Given the description of an element on the screen output the (x, y) to click on. 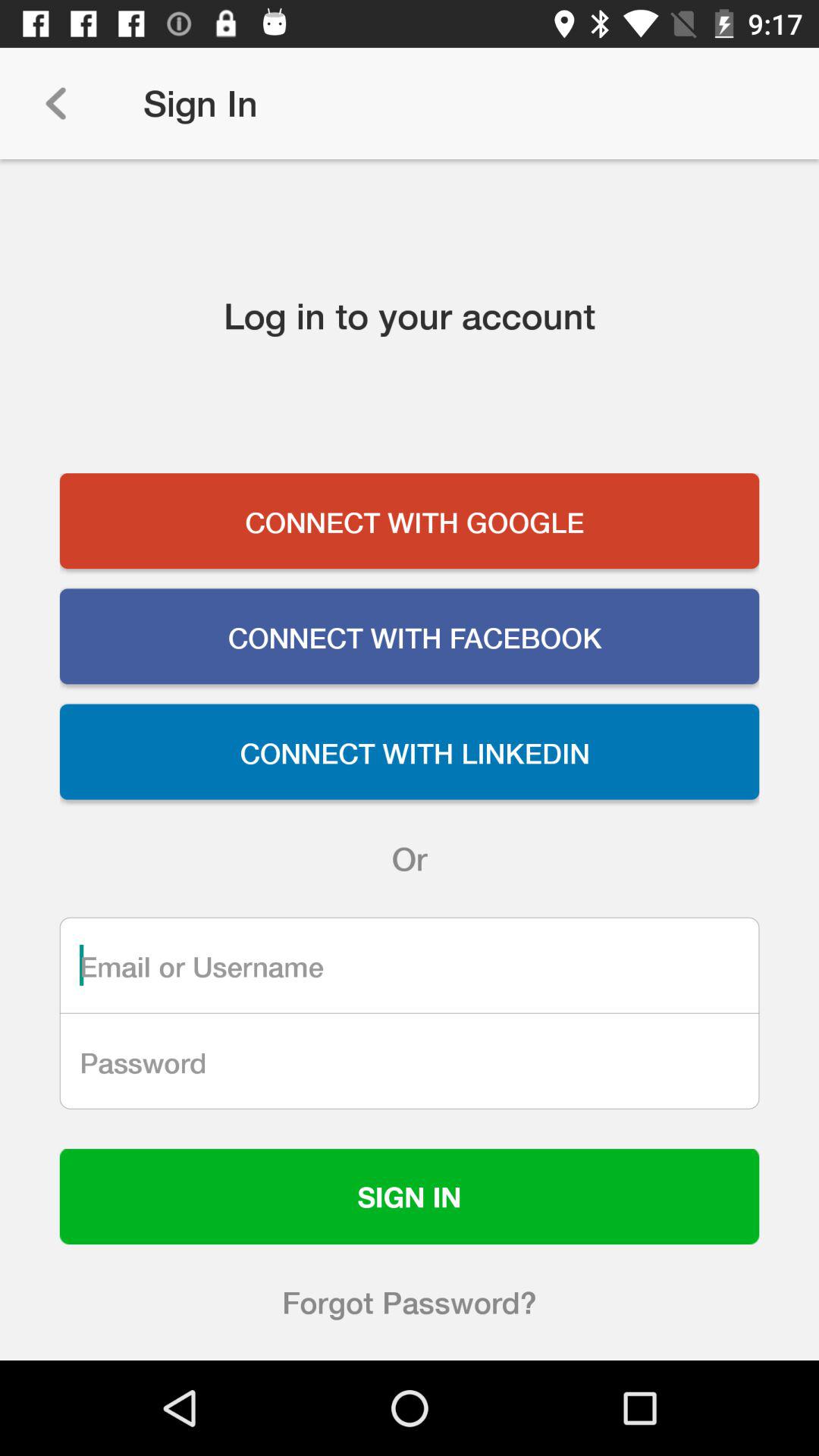
blank for writting (409, 964)
